Given the description of an element on the screen output the (x, y) to click on. 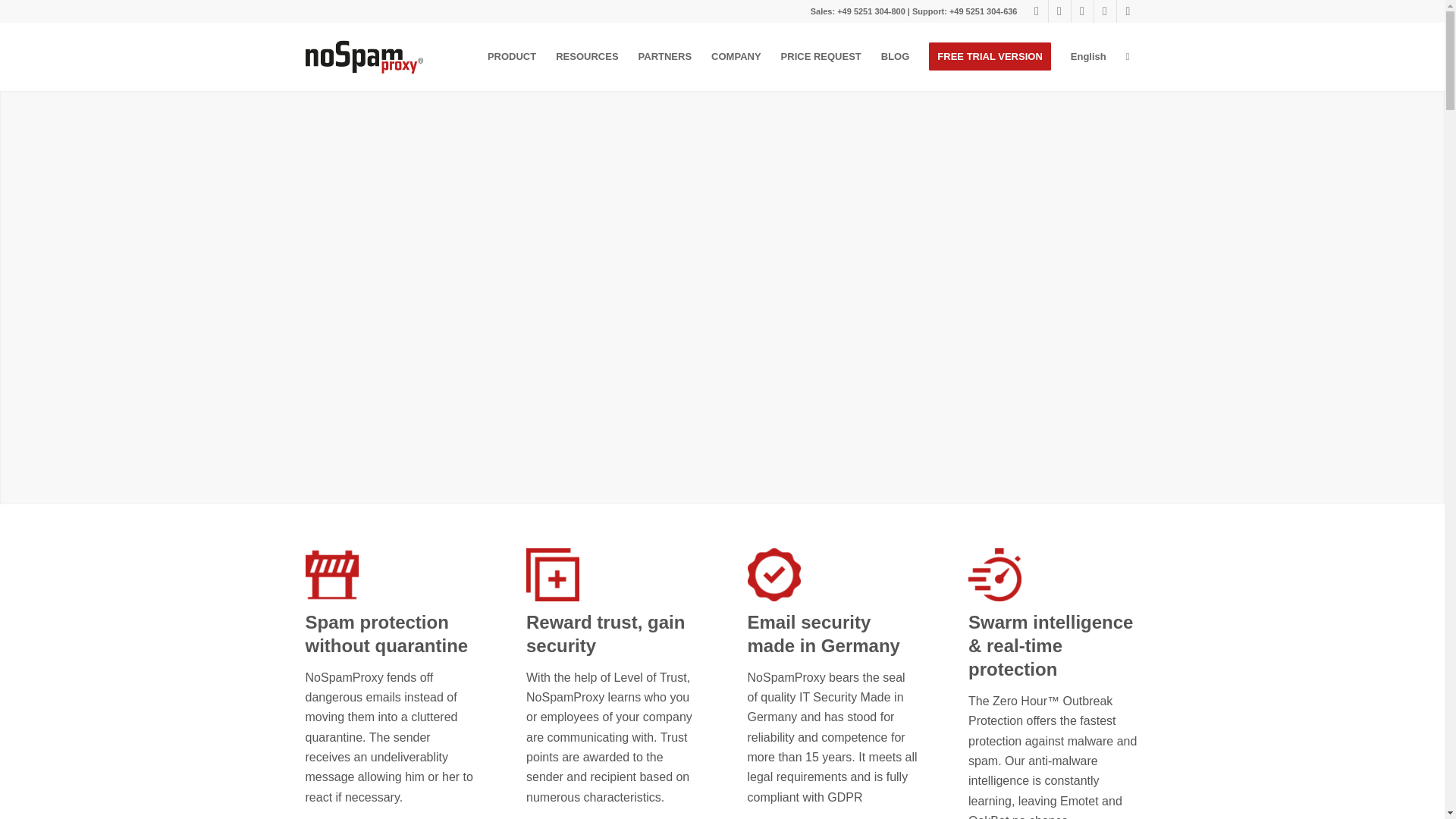
Instagram (1127, 11)
RESOURCES (586, 56)
PRODUCT (511, 56)
PRICE REQUEST (820, 56)
LinkedIn (1059, 11)
NoSpamProxy Logo (363, 56)
Rss (1035, 11)
PARTNERS (664, 56)
COMPANY (735, 56)
Youtube (1081, 11)
